Given the description of an element on the screen output the (x, y) to click on. 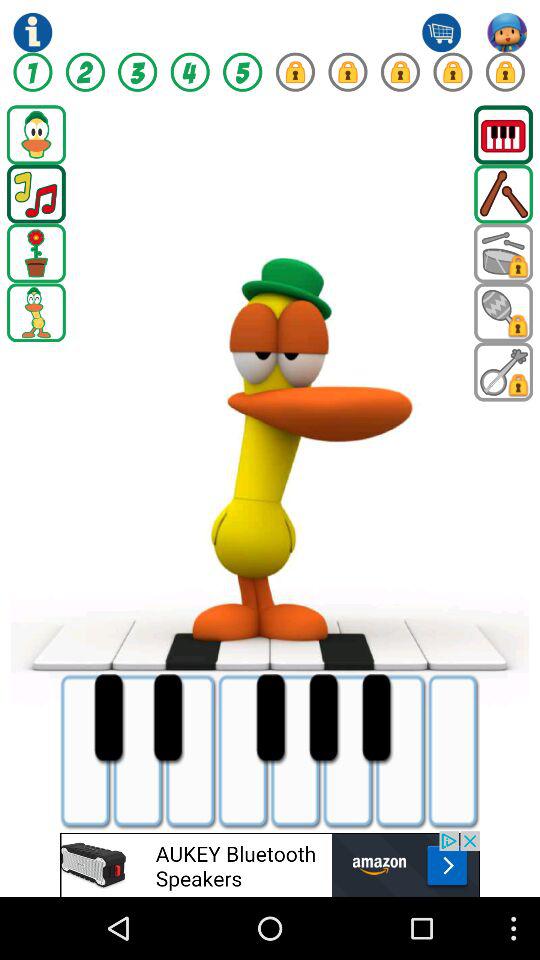
select drumsticks (503, 193)
